Given the description of an element on the screen output the (x, y) to click on. 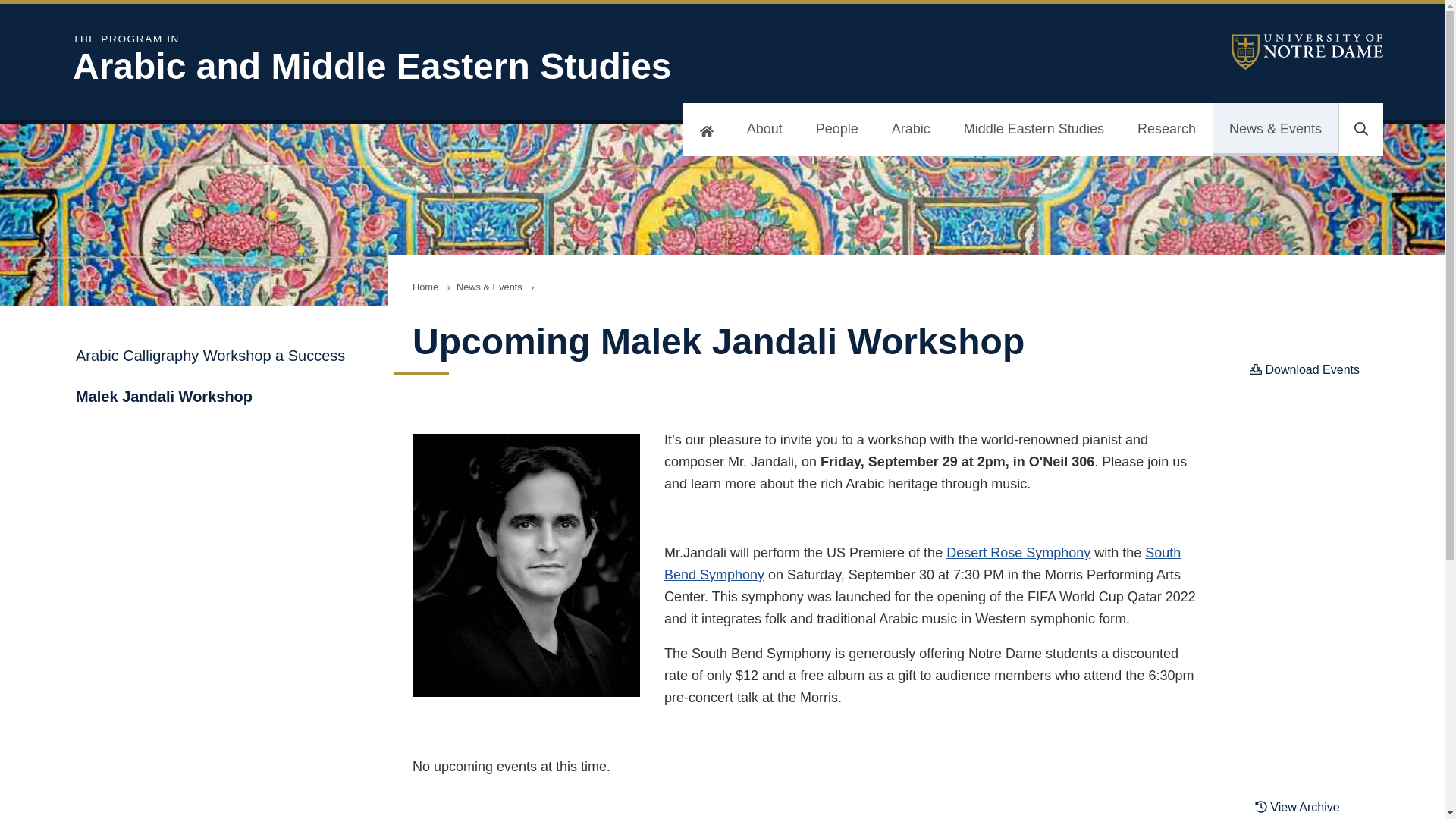
About (764, 129)
University of Notre Dame (466, 60)
Desert Rose Symphony (1307, 51)
Download Events (1018, 552)
Middle Eastern Studies (1304, 368)
Arabic Calligraphy Workshop a Success (1034, 129)
South Bend Symphony (218, 354)
Malek Jandali Workshop (921, 563)
Home (218, 395)
People (425, 286)
View Archive (837, 129)
Research (1307, 804)
Arabic (1166, 129)
